Given the description of an element on the screen output the (x, y) to click on. 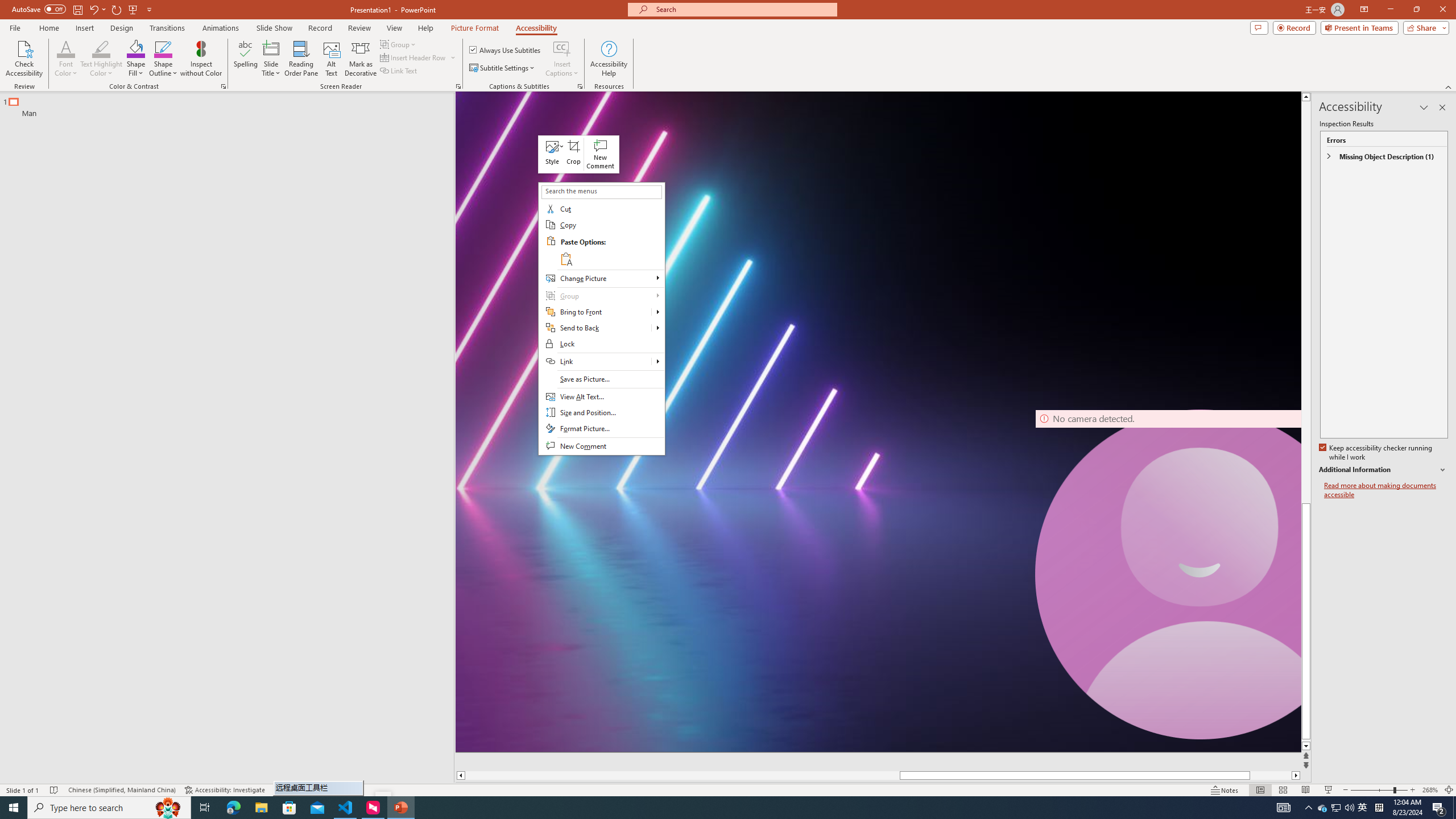
Send to Back (657, 327)
Link Text (399, 69)
